Given the description of an element on the screen output the (x, y) to click on. 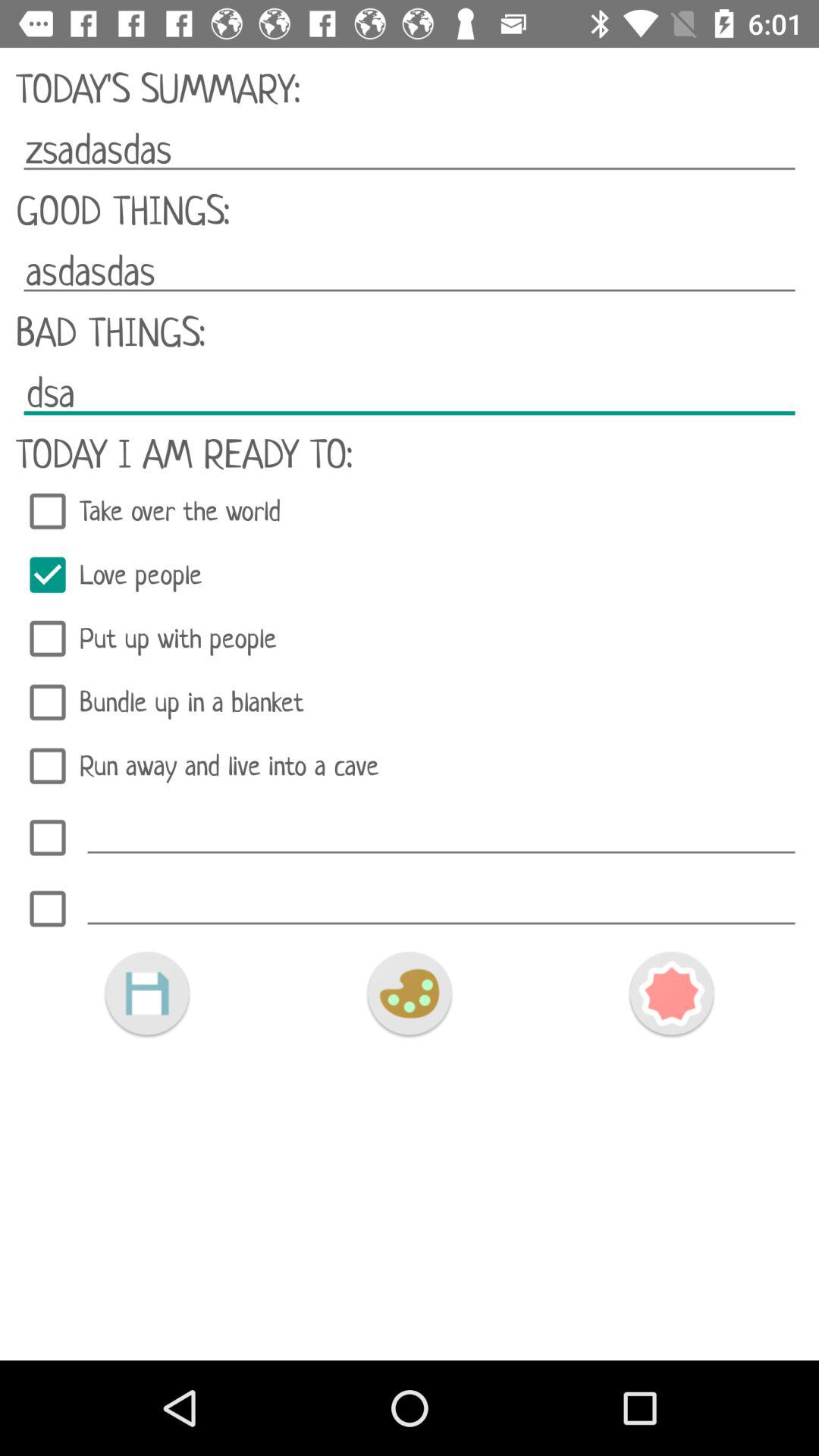
save current information (146, 993)
